Given the description of an element on the screen output the (x, y) to click on. 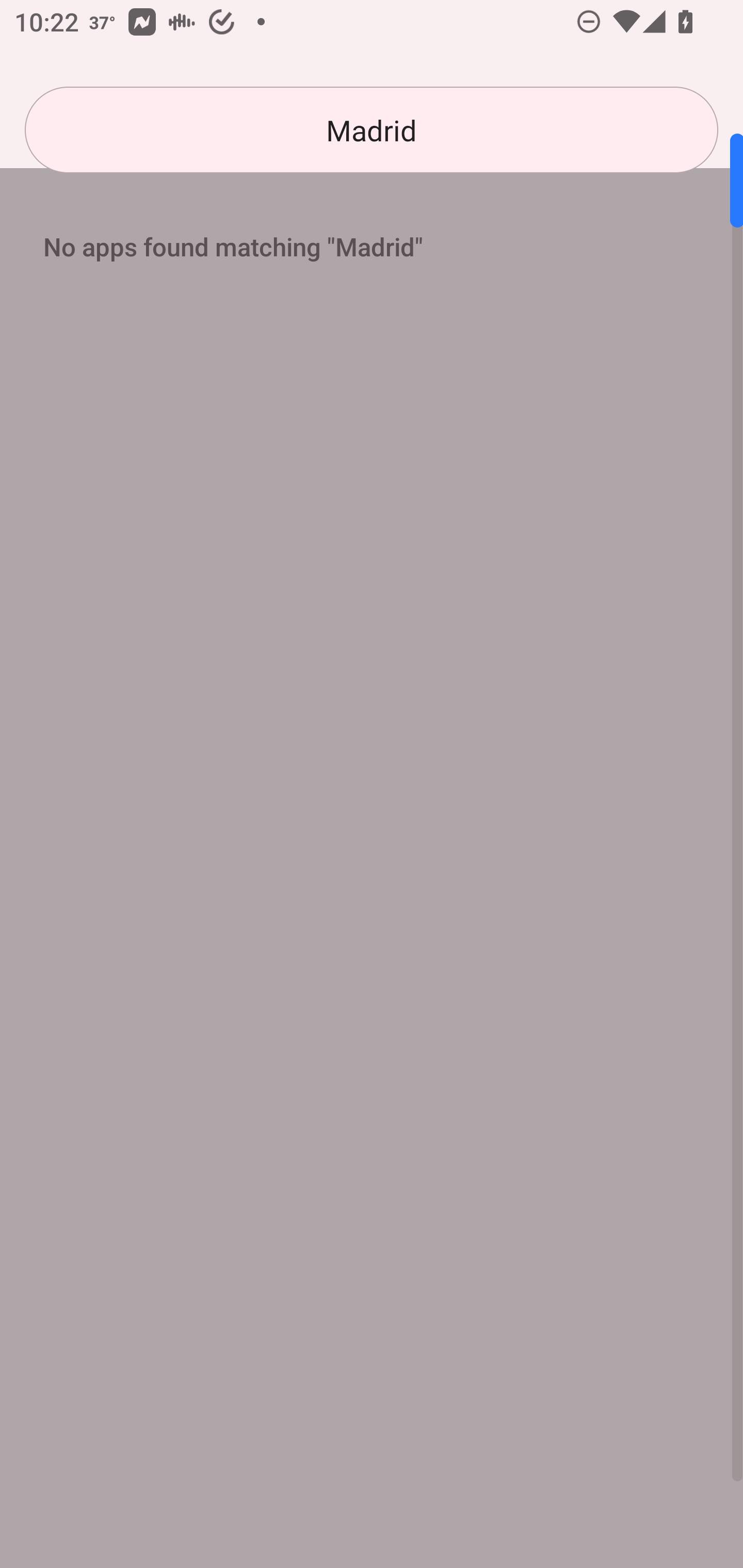
Madrid (371, 130)
